Given the description of an element on the screen output the (x, y) to click on. 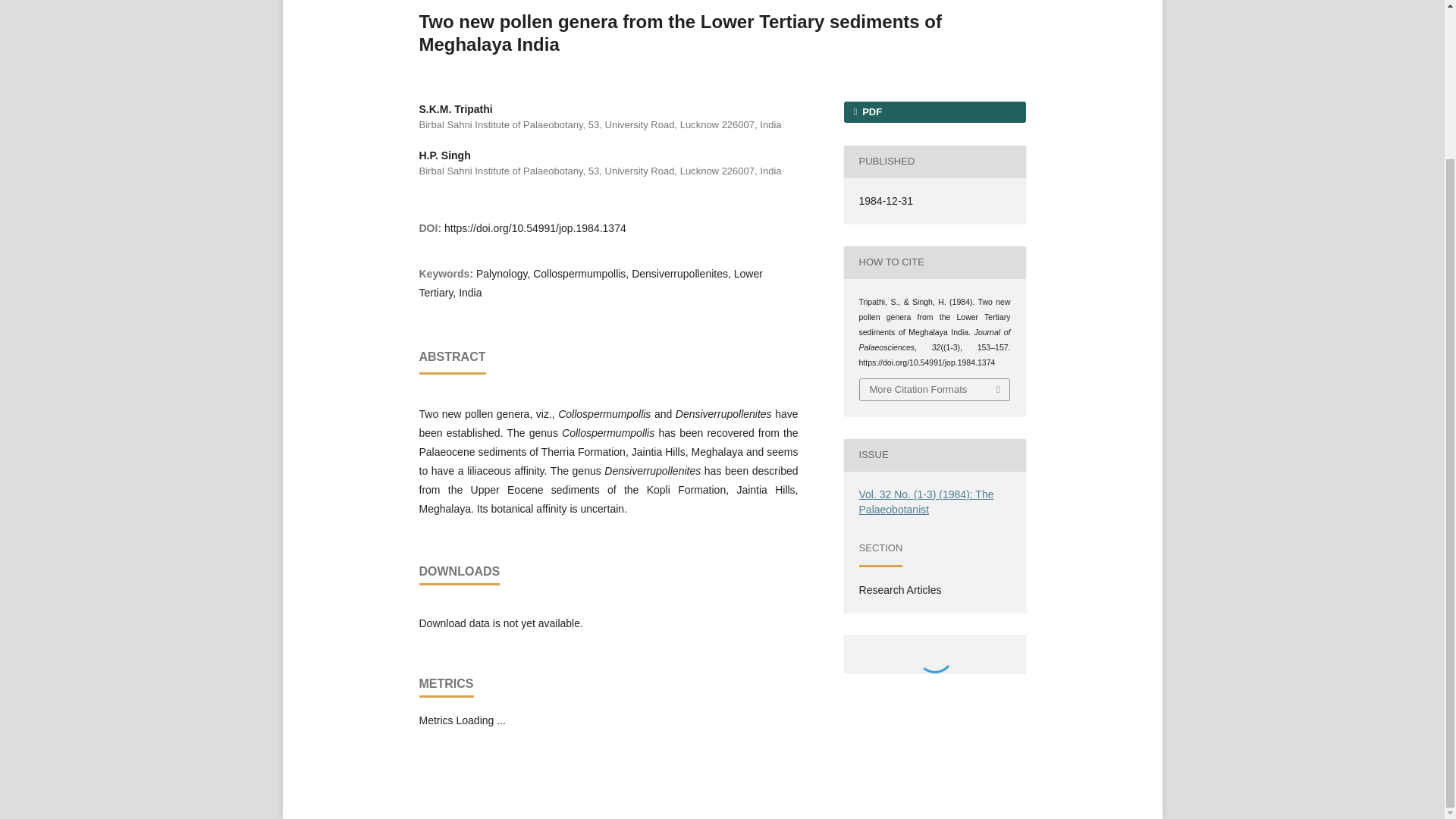
PDF (934, 111)
More Citation Formats (935, 389)
